Given the description of an element on the screen output the (x, y) to click on. 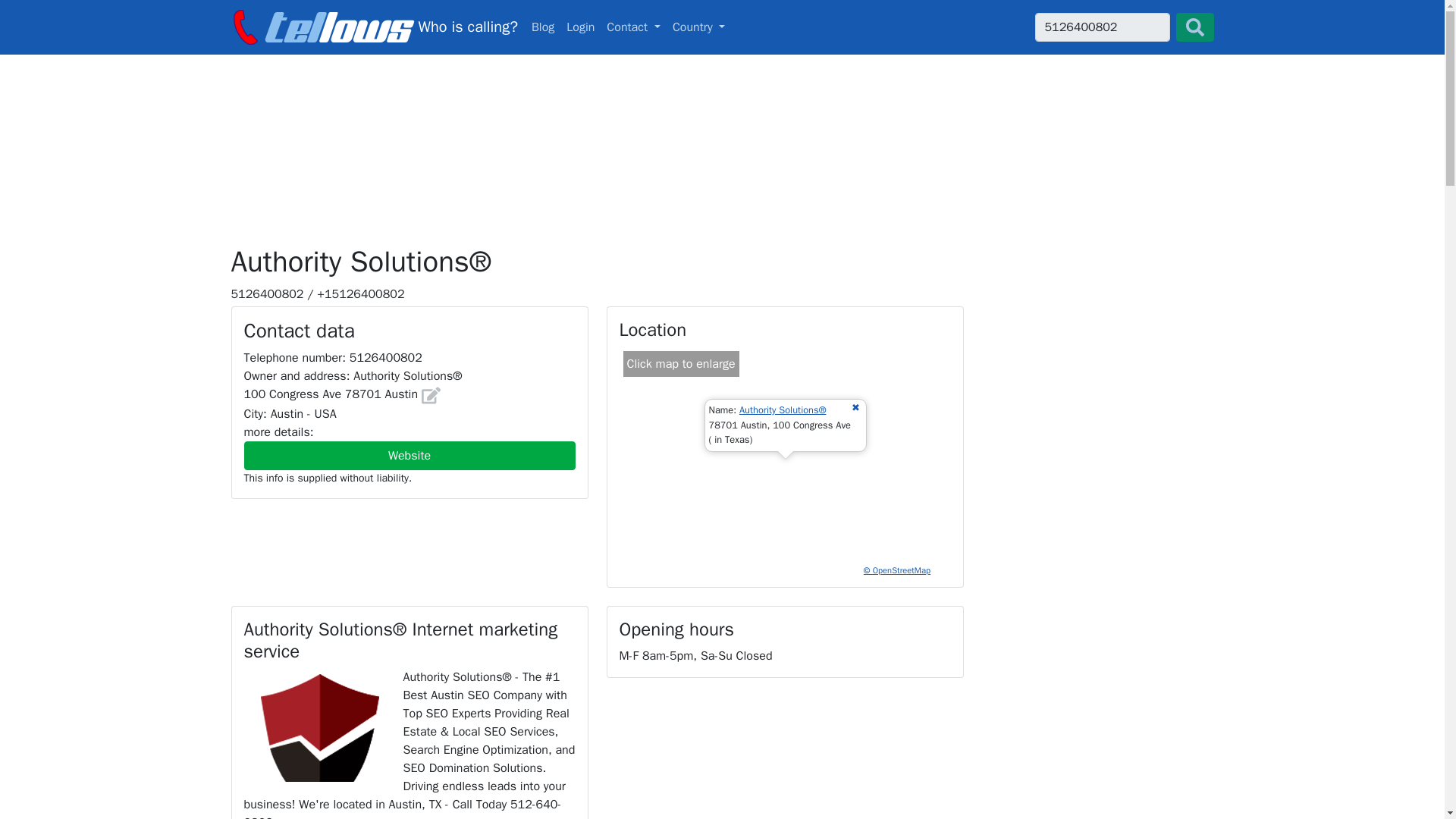
Login (579, 27)
Blog (542, 27)
5126400802 (1101, 27)
tellows - the community for calls, phone spam and complaints (373, 26)
Country (699, 27)
Who is calling? (373, 26)
Contact (632, 27)
Website (722, 26)
close (409, 455)
Blog (855, 408)
